Given the description of an element on the screen output the (x, y) to click on. 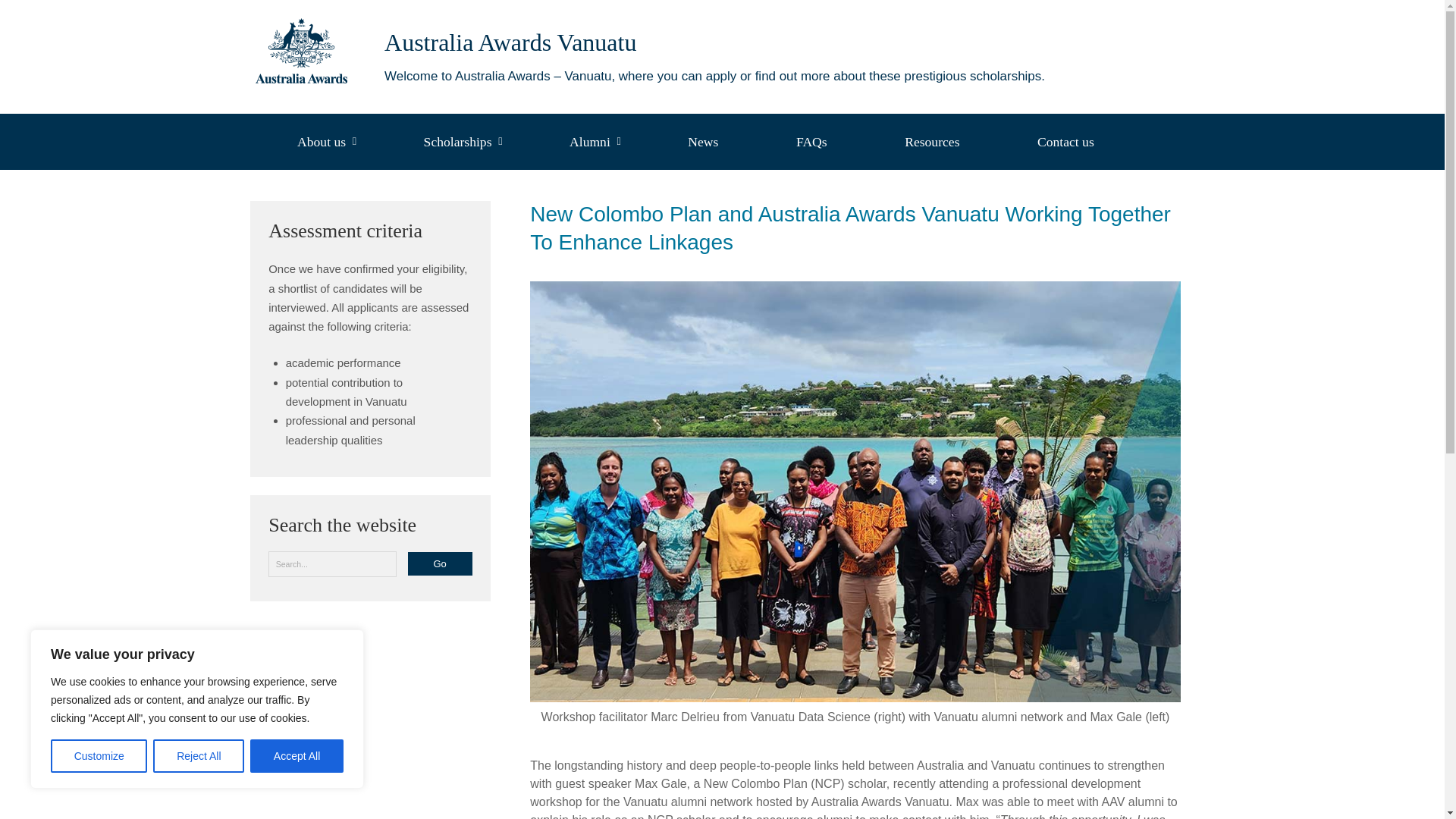
Accept All (296, 756)
Go (439, 563)
Go (439, 563)
Customize (98, 756)
Reject All (198, 756)
